Given the description of an element on the screen output the (x, y) to click on. 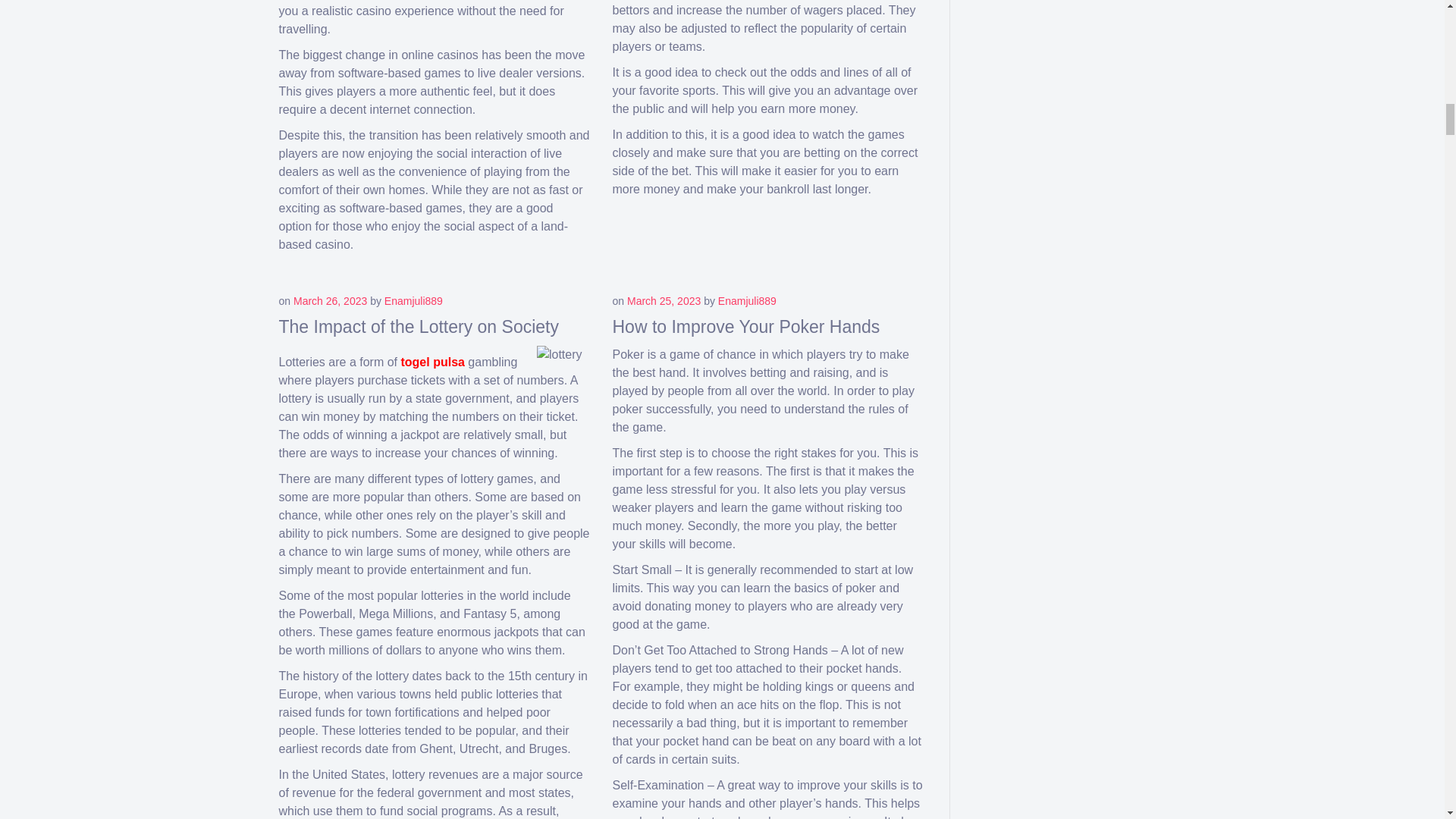
togel pulsa (432, 361)
March 25, 2023 (663, 300)
The Impact of the Lottery on Society (419, 326)
How to Improve Your Poker Hands (746, 326)
Enamjuli889 (746, 300)
March 26, 2023 (330, 300)
Enamjuli889 (413, 300)
